Given the description of an element on the screen output the (x, y) to click on. 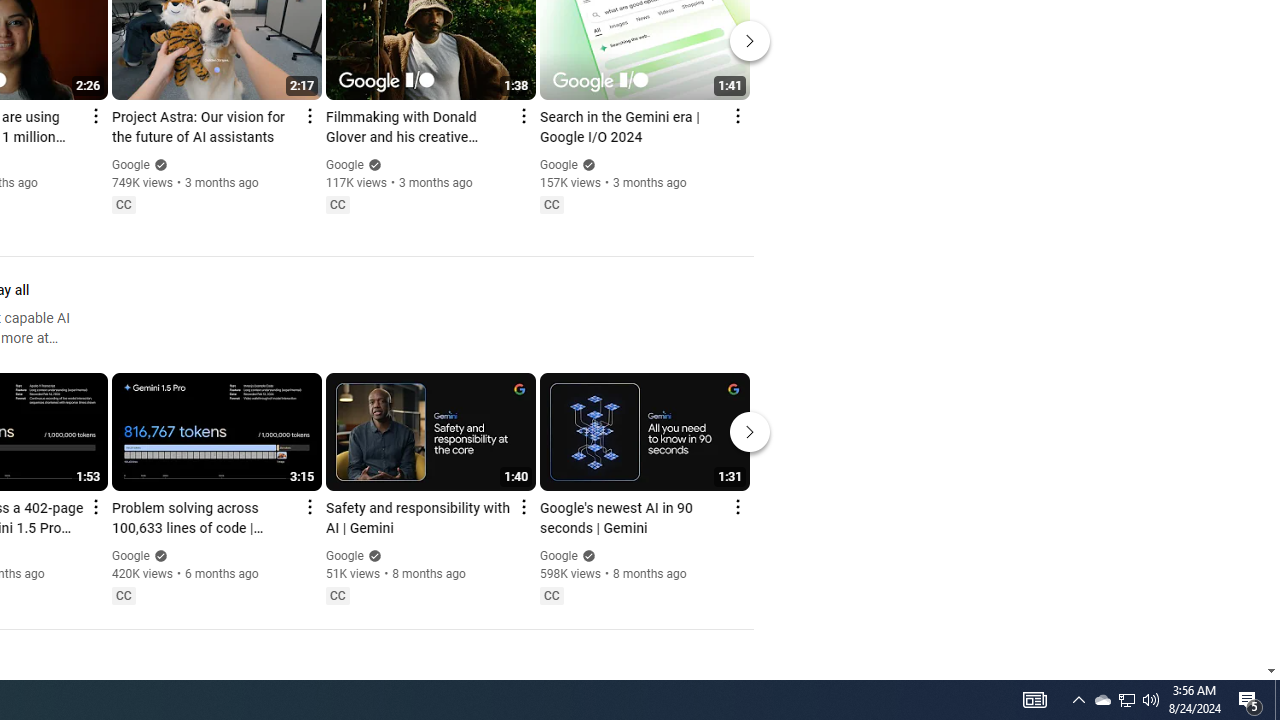
Closed captions (551, 595)
